Given the description of an element on the screen output the (x, y) to click on. 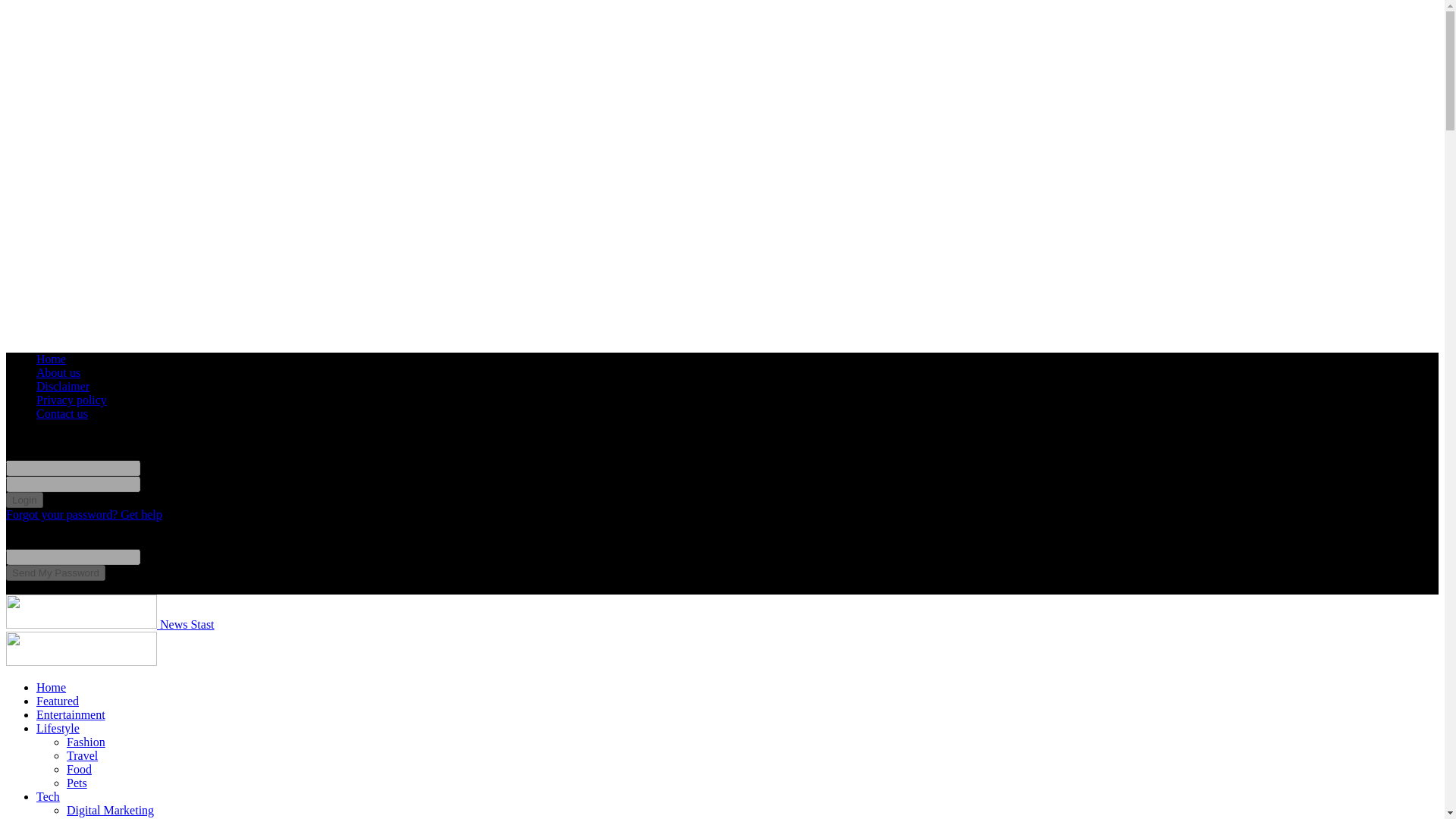
Privacy policy (71, 399)
Login (24, 499)
Send My Password (54, 572)
Disclaimer (62, 386)
Contact us (61, 413)
About us (58, 372)
News Stast (109, 624)
Forgot your password? Get help (83, 513)
Home (50, 358)
